Given the description of an element on the screen output the (x, y) to click on. 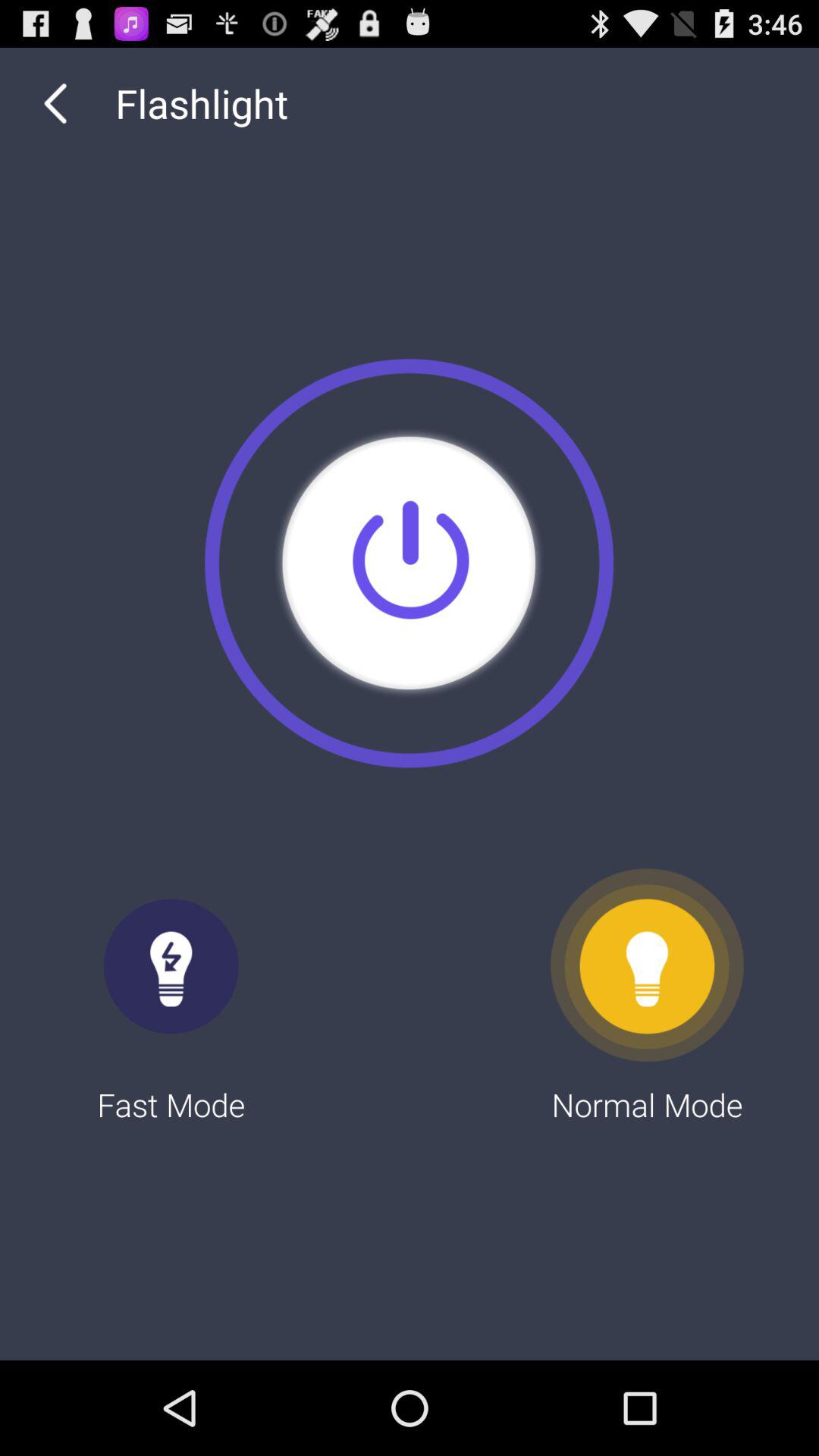
click icon to the left of flashlight app (55, 103)
